Given the description of an element on the screen output the (x, y) to click on. 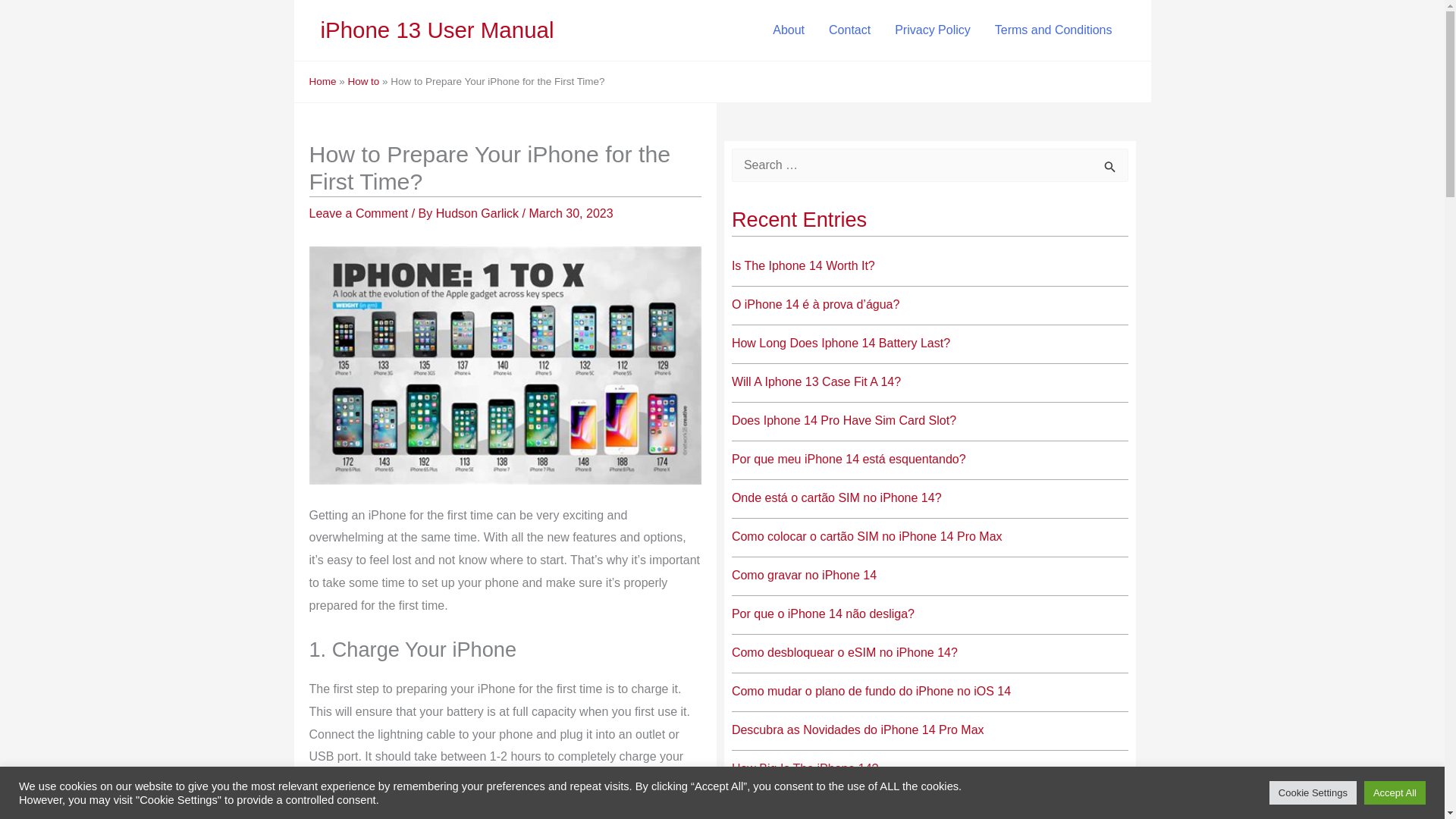
Como gravar no iPhone 14 (804, 574)
View all posts by Hudson Garlick (478, 213)
Privacy Policy (932, 30)
How Long Does Iphone 14 Battery Last? (841, 342)
Terms and Conditions (1053, 30)
Contact (849, 30)
How to (362, 81)
iPhone 13 User Manual (436, 29)
Is The Iphone 14 Worth It? (803, 265)
Como mudar o plano de fundo do iPhone no iOS 14 (871, 690)
